Given the description of an element on the screen output the (x, y) to click on. 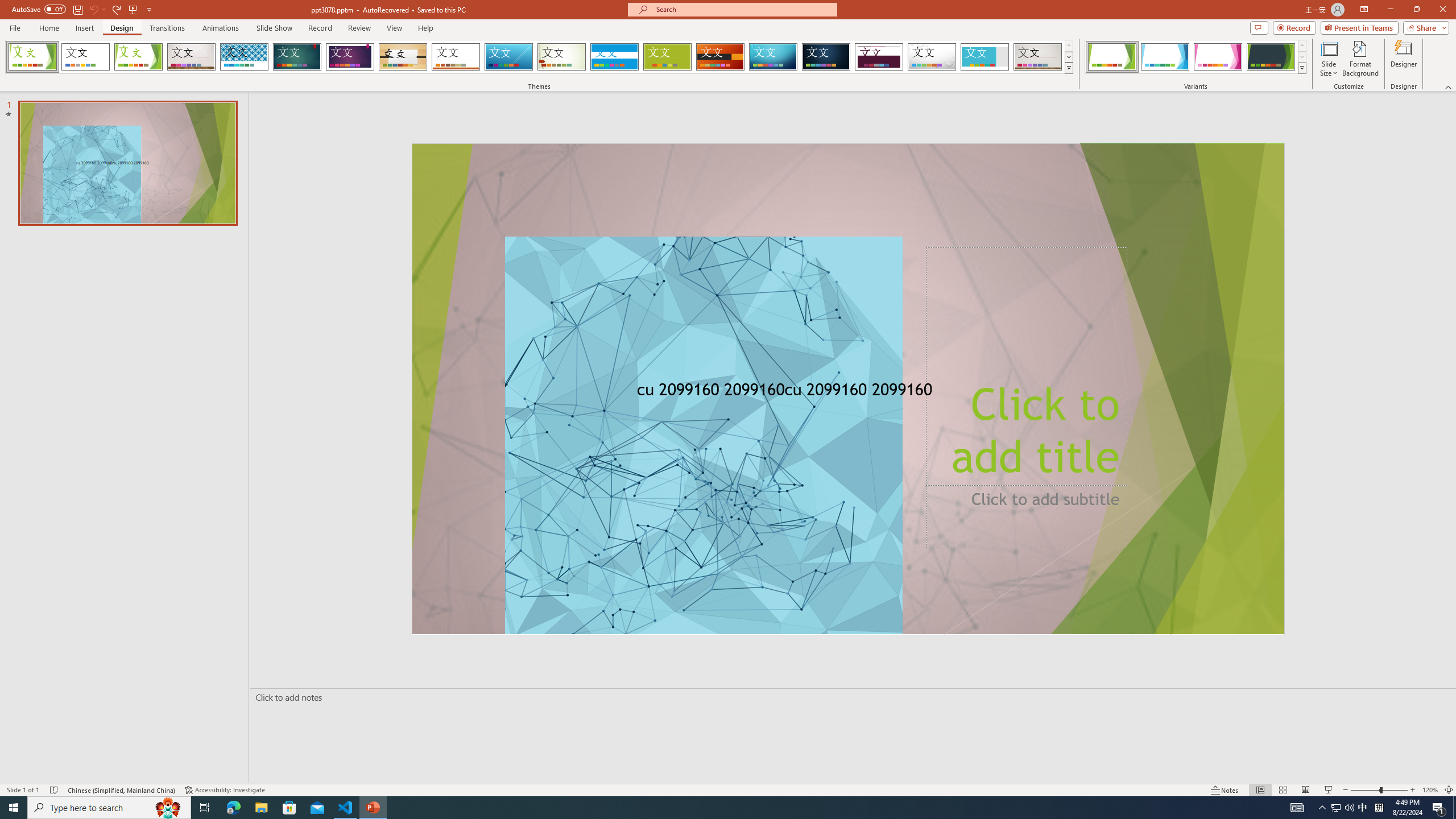
Gallery (191, 56)
Facet Variant 3 (1217, 56)
Banded Loading Preview... (614, 56)
Droplet Loading Preview... (931, 56)
Zoom 120% (1430, 790)
Organic Loading Preview... (403, 56)
Retrospect Loading Preview... (455, 56)
